Given the description of an element on the screen output the (x, y) to click on. 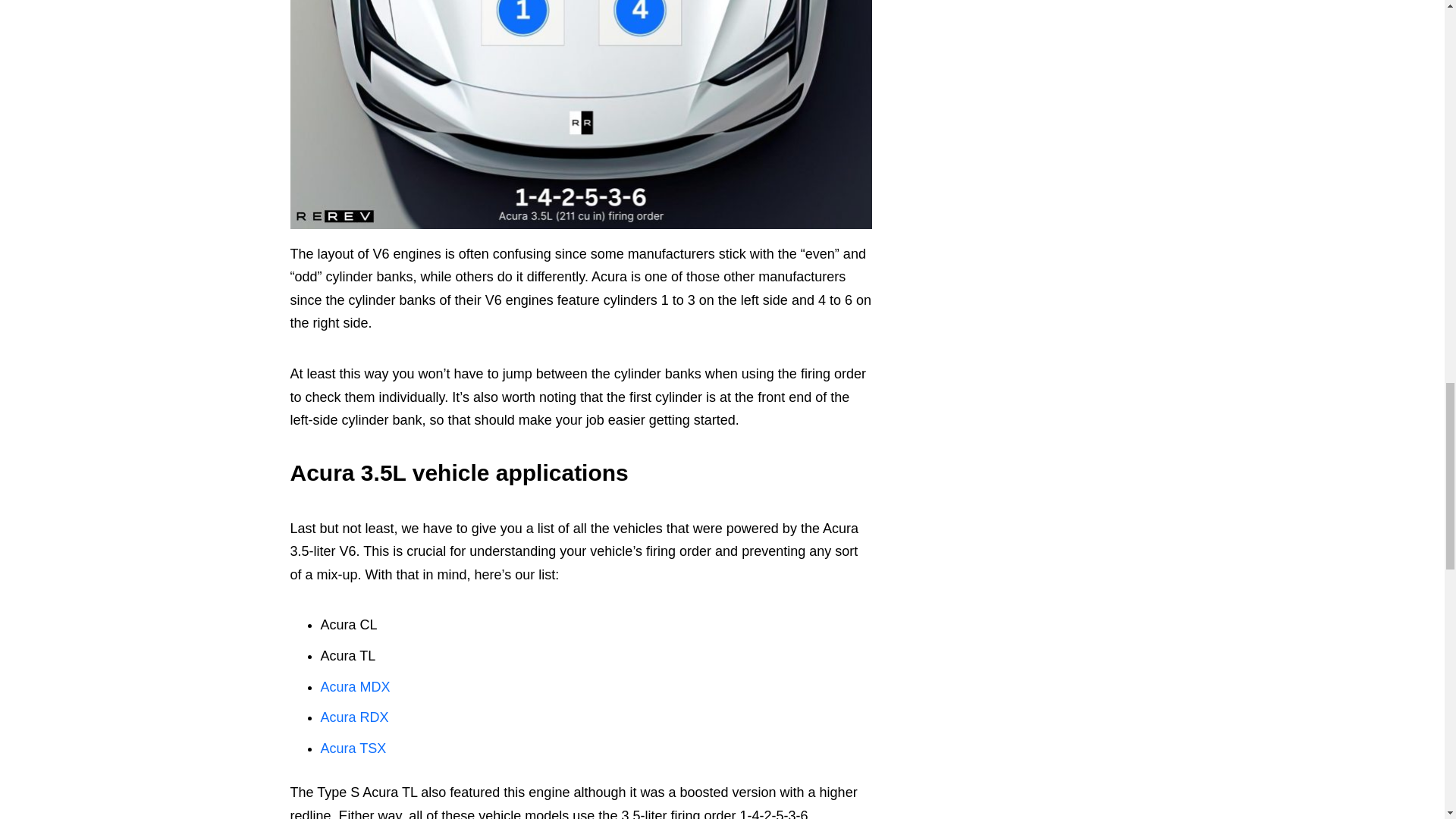
Acura RDX (354, 717)
Acura TSX (352, 748)
Acura MDX (355, 686)
